Given the description of an element on the screen output the (x, y) to click on. 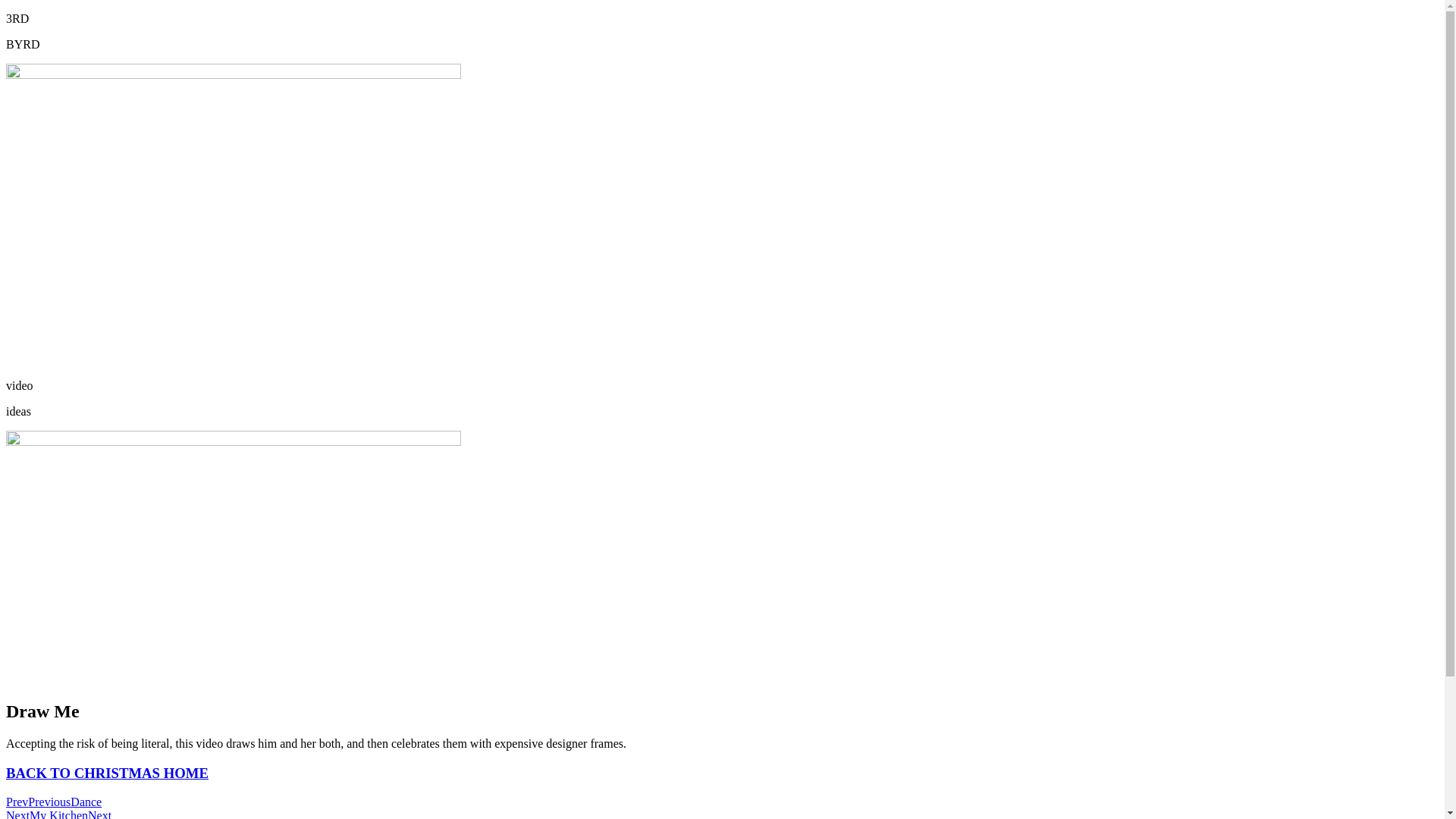
BACK TO CHRISTMAS HOME Element type: text (107, 773)
PrevPreviousDance Element type: text (53, 801)
